Given the description of an element on the screen output the (x, y) to click on. 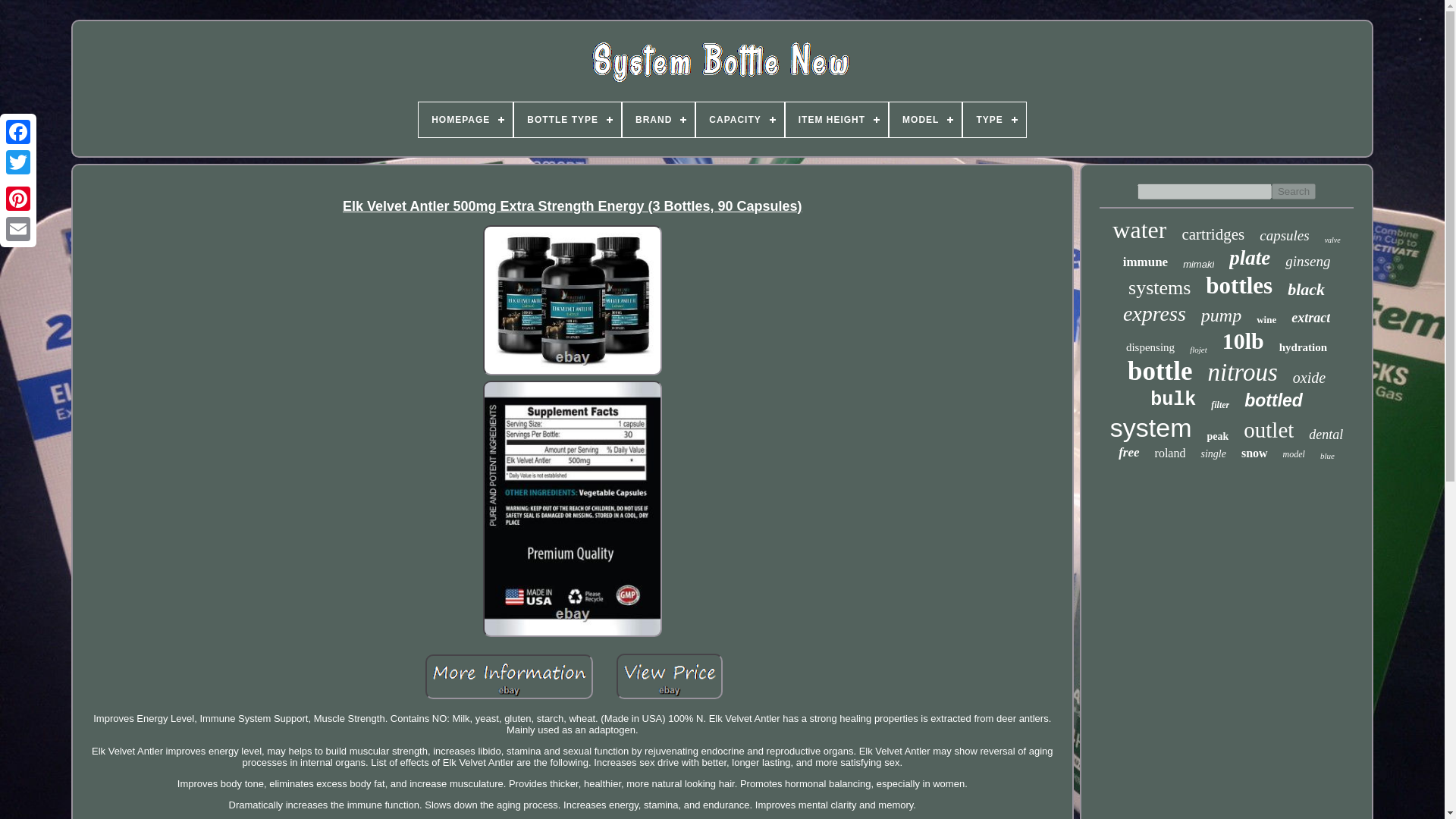
HOMEPAGE (465, 119)
Search (1293, 191)
CAPACITY (739, 119)
BRAND (658, 119)
BOTTLE TYPE (567, 119)
